Given the description of an element on the screen output the (x, y) to click on. 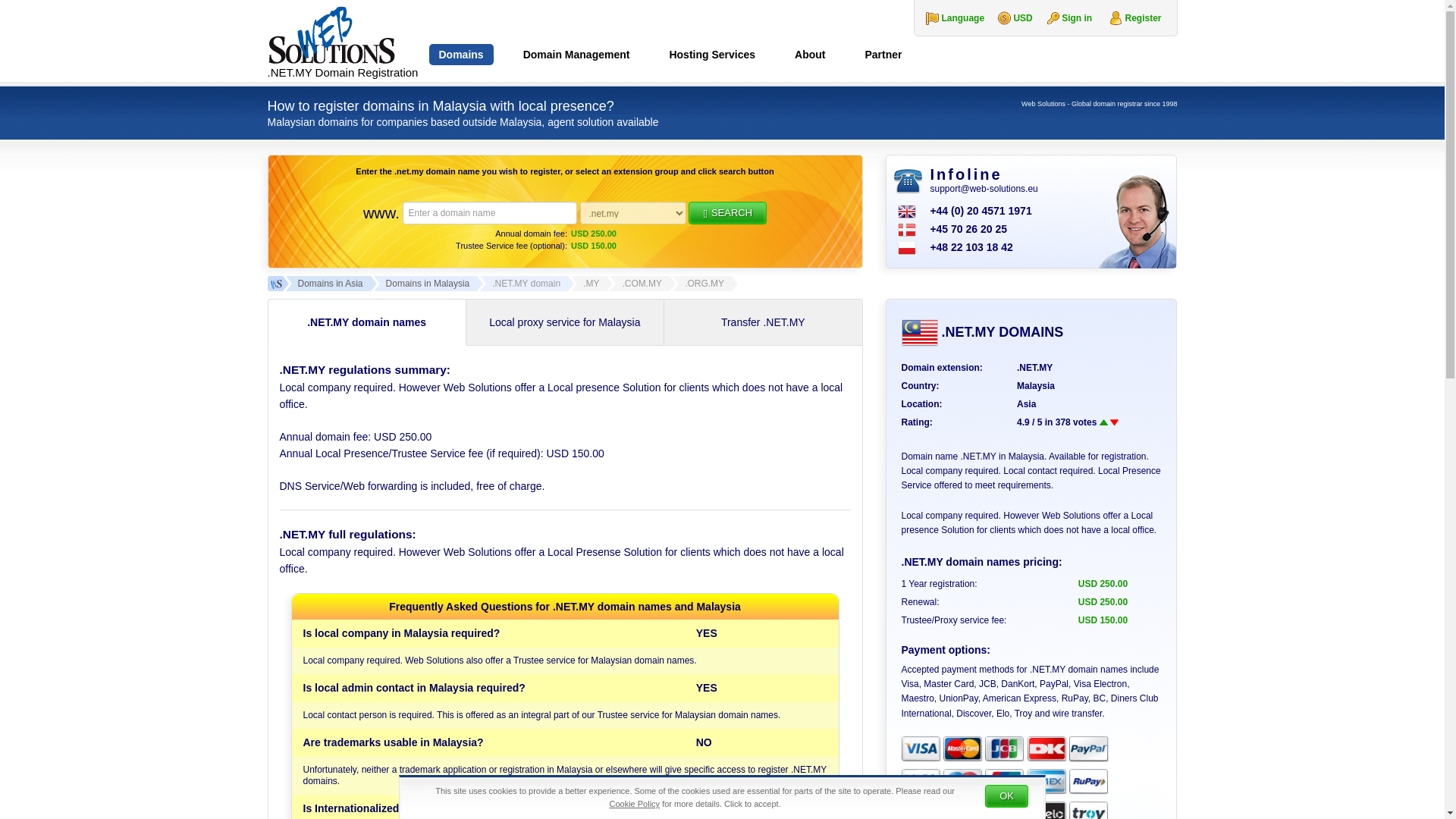
Register (1142, 18)
Language (949, 18)
Domain names registration (461, 57)
USD (1009, 18)
Domains (461, 57)
Web Solutions (342, 40)
Client Panel (1142, 18)
Sign in (1076, 18)
Client Panel (1076, 18)
.NET.MY Domain Registration (342, 40)
Domain Management (576, 57)
